Given the description of an element on the screen output the (x, y) to click on. 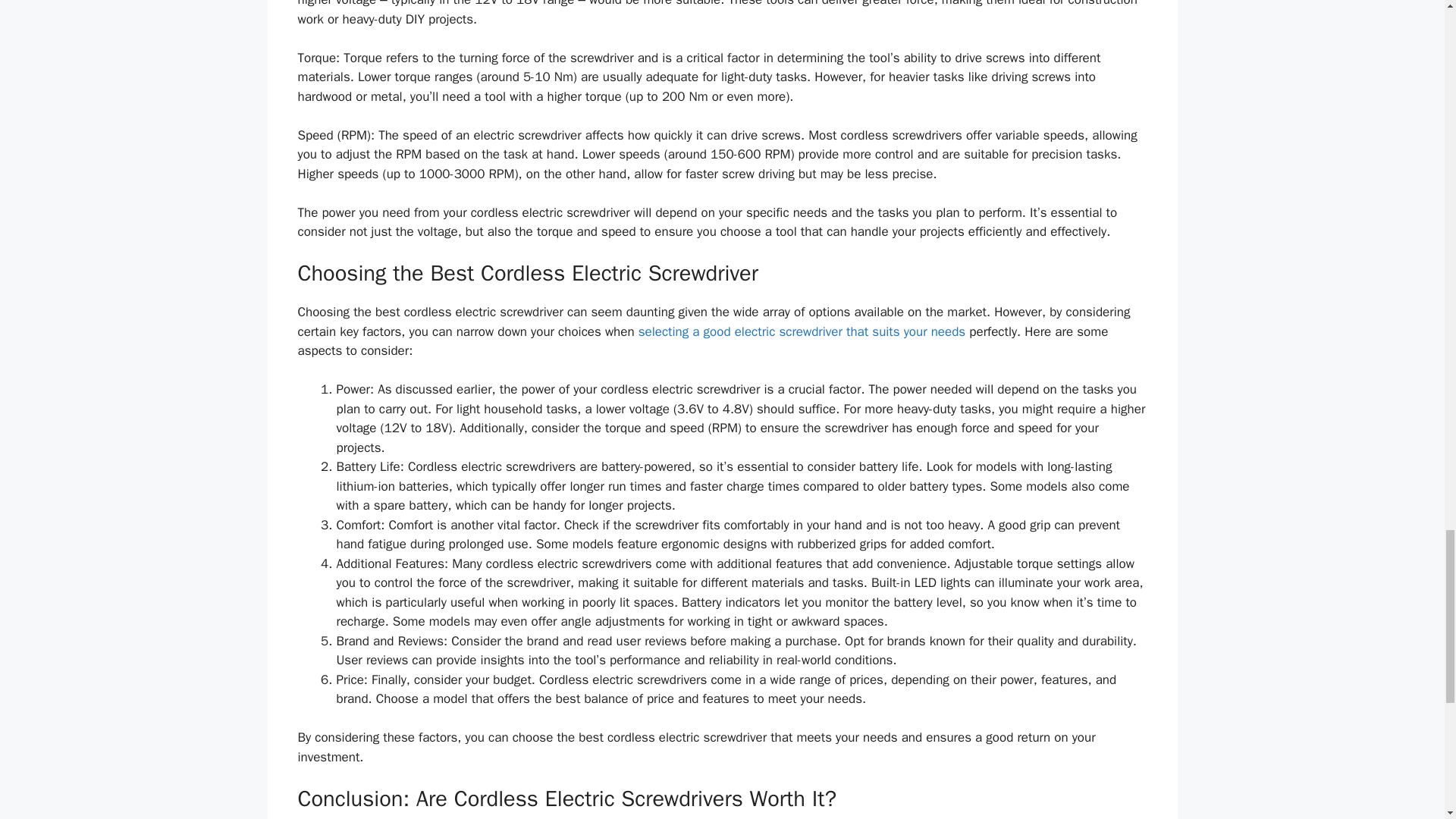
selecting a good electric screwdriver that suits your needs (802, 331)
